Given the description of an element on the screen output the (x, y) to click on. 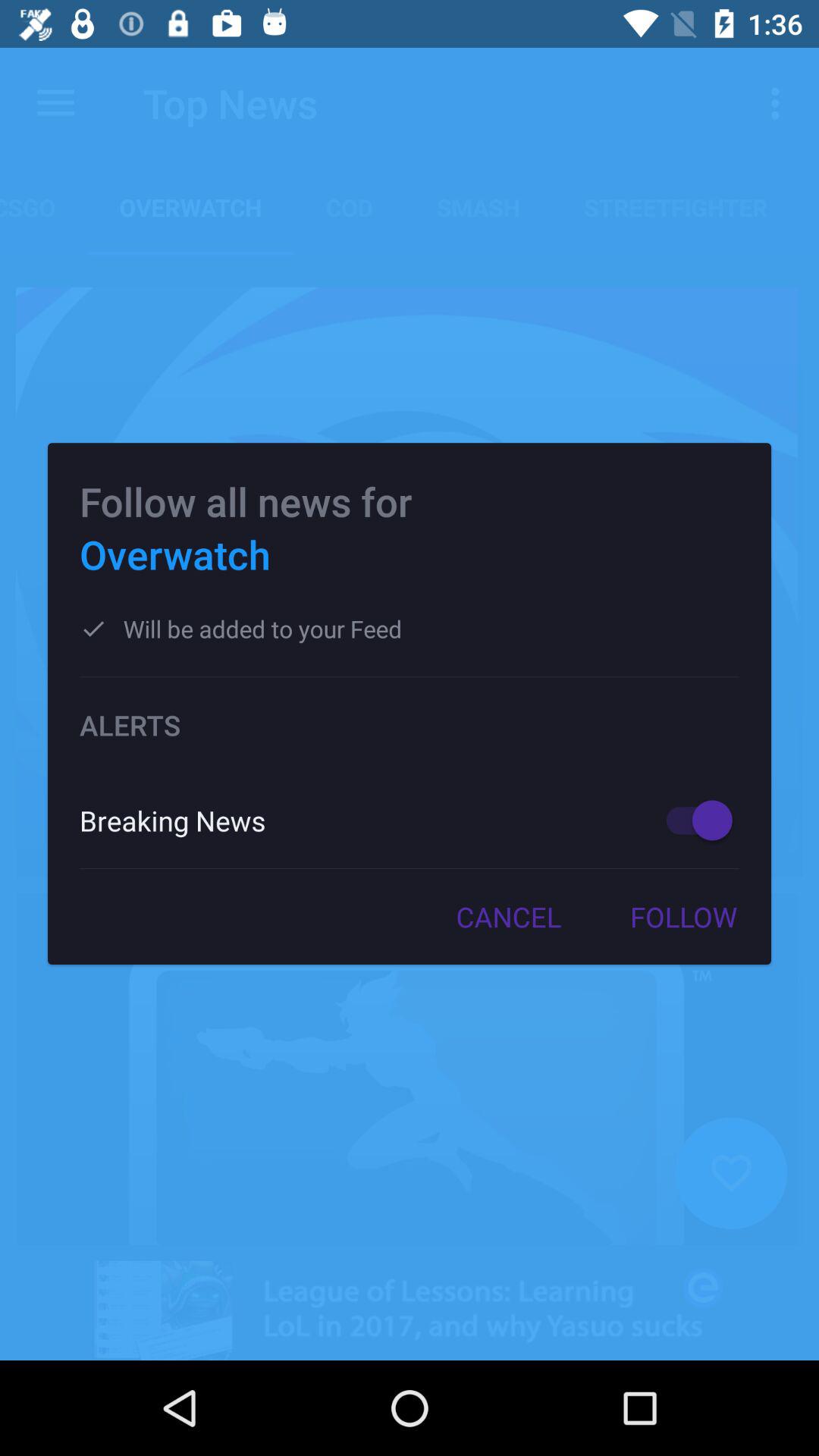
open the item next to follow item (508, 916)
